Given the description of an element on the screen output the (x, y) to click on. 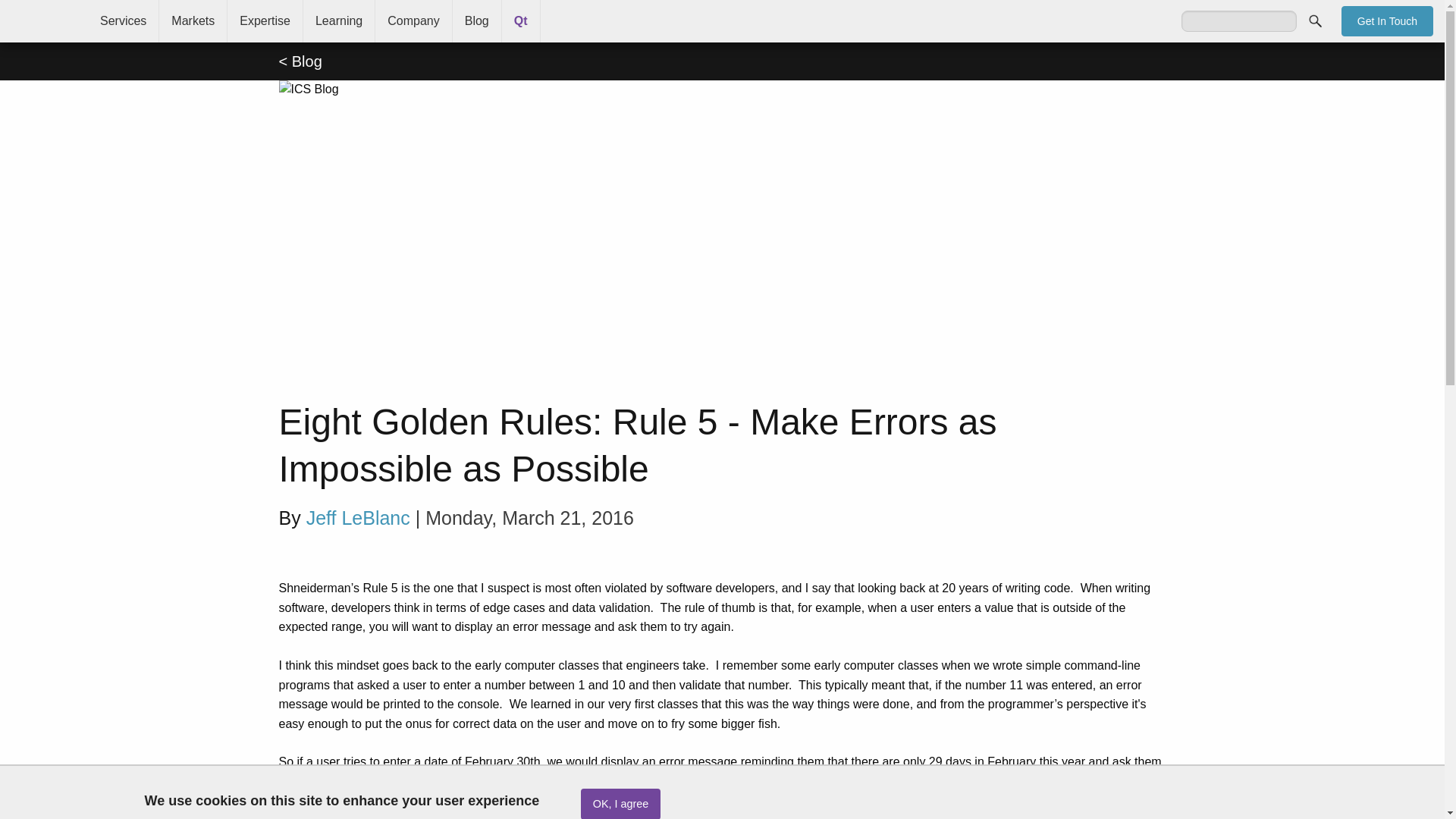
Search (1315, 20)
Enter the terms you wish to search for. (1238, 20)
Blog (476, 21)
OK, I agree (619, 803)
ICS (44, 21)
Learning (338, 21)
Services (122, 21)
Markets (192, 21)
Company (413, 21)
Expertise (264, 21)
